Given the description of an element on the screen output the (x, y) to click on. 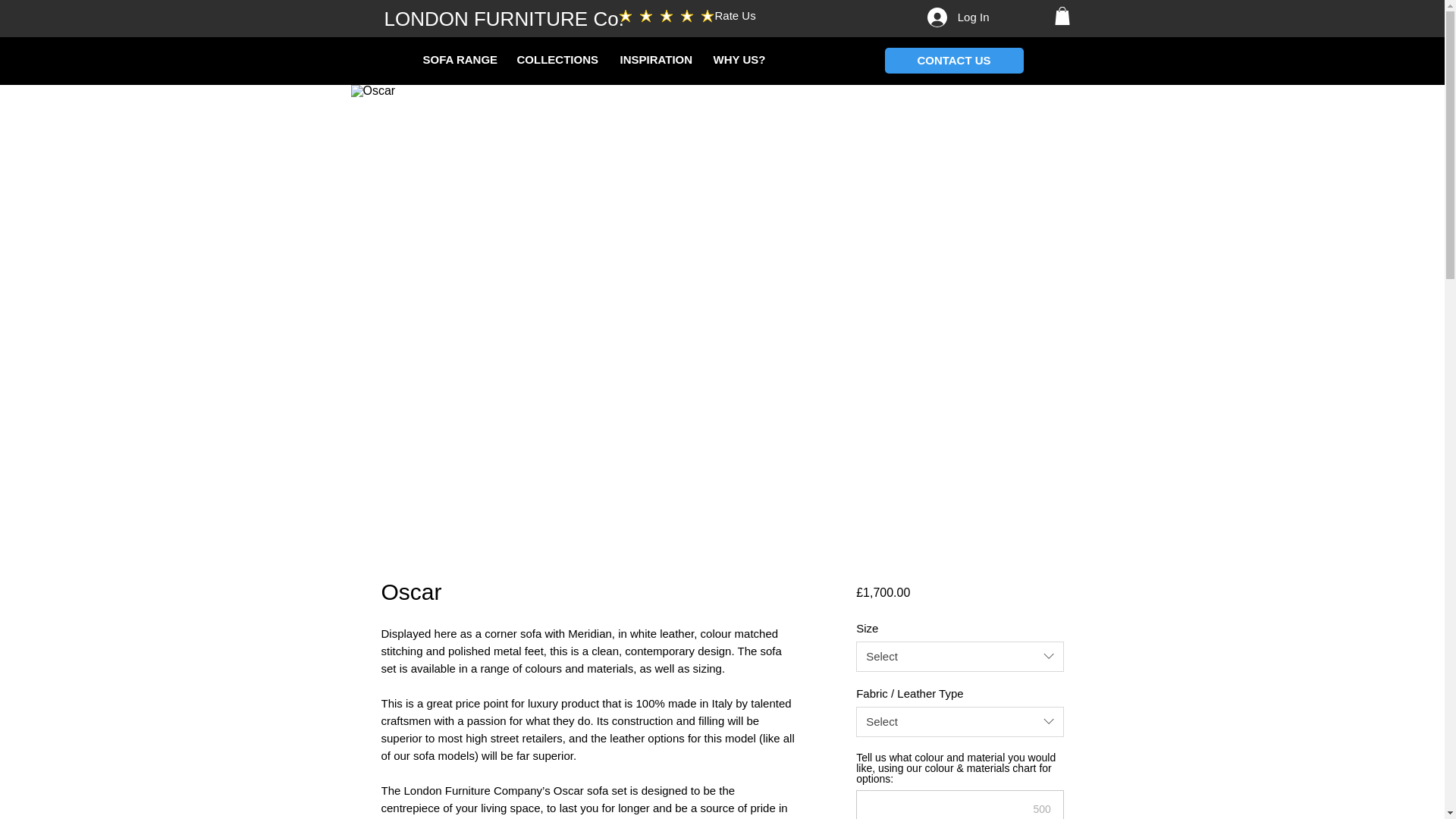
COLLECTIONS (556, 58)
INSPIRATION (654, 58)
CONTACT US (953, 59)
Select (959, 656)
WHY US? (737, 58)
Select (959, 721)
LONDON FURNITURE Co. (503, 19)
Log In (958, 17)
